Given the description of an element on the screen output the (x, y) to click on. 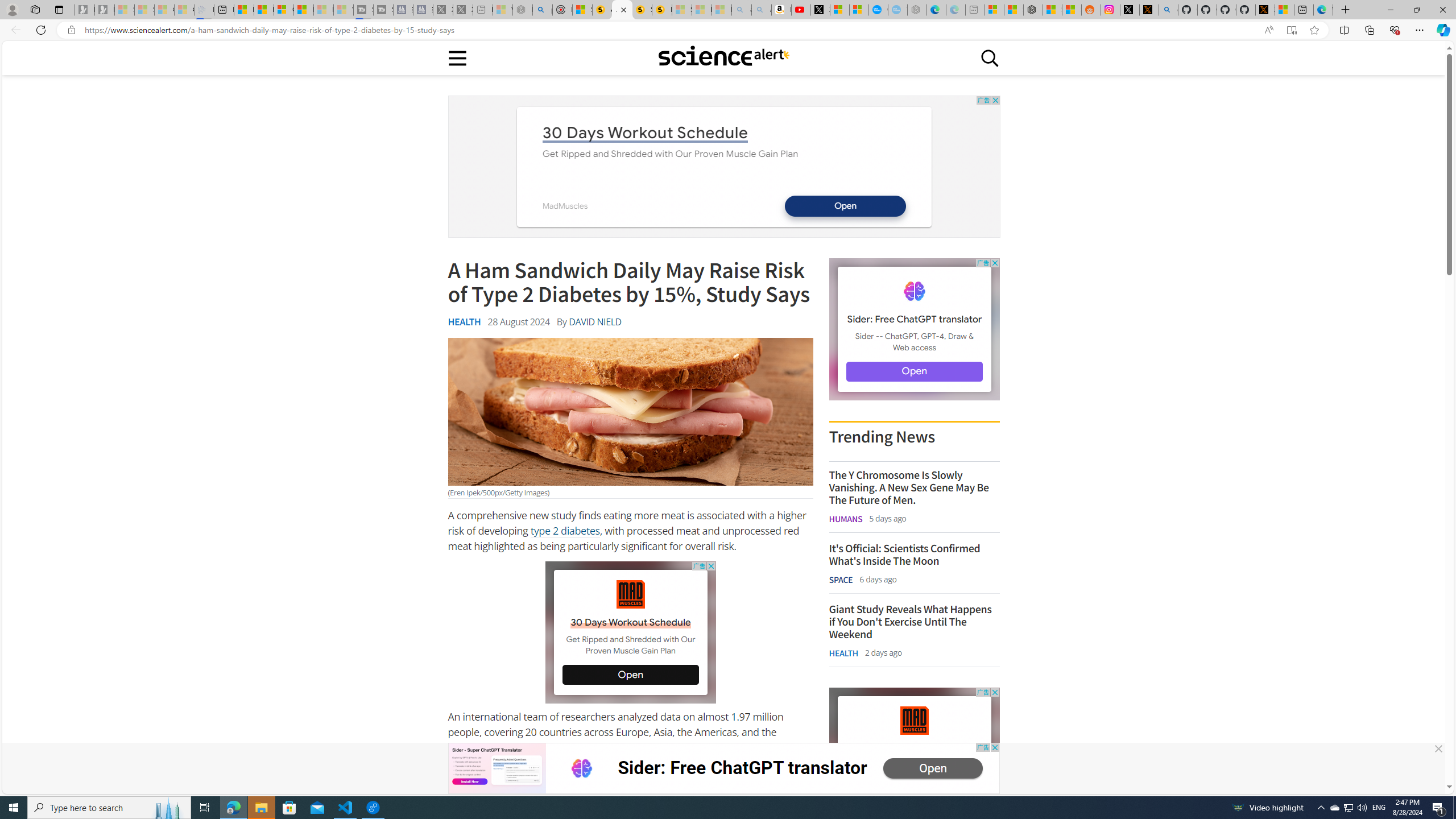
github - Search (1168, 9)
Opinion: Op-Ed and Commentary - USA TODAY (877, 9)
